Given the description of an element on the screen output the (x, y) to click on. 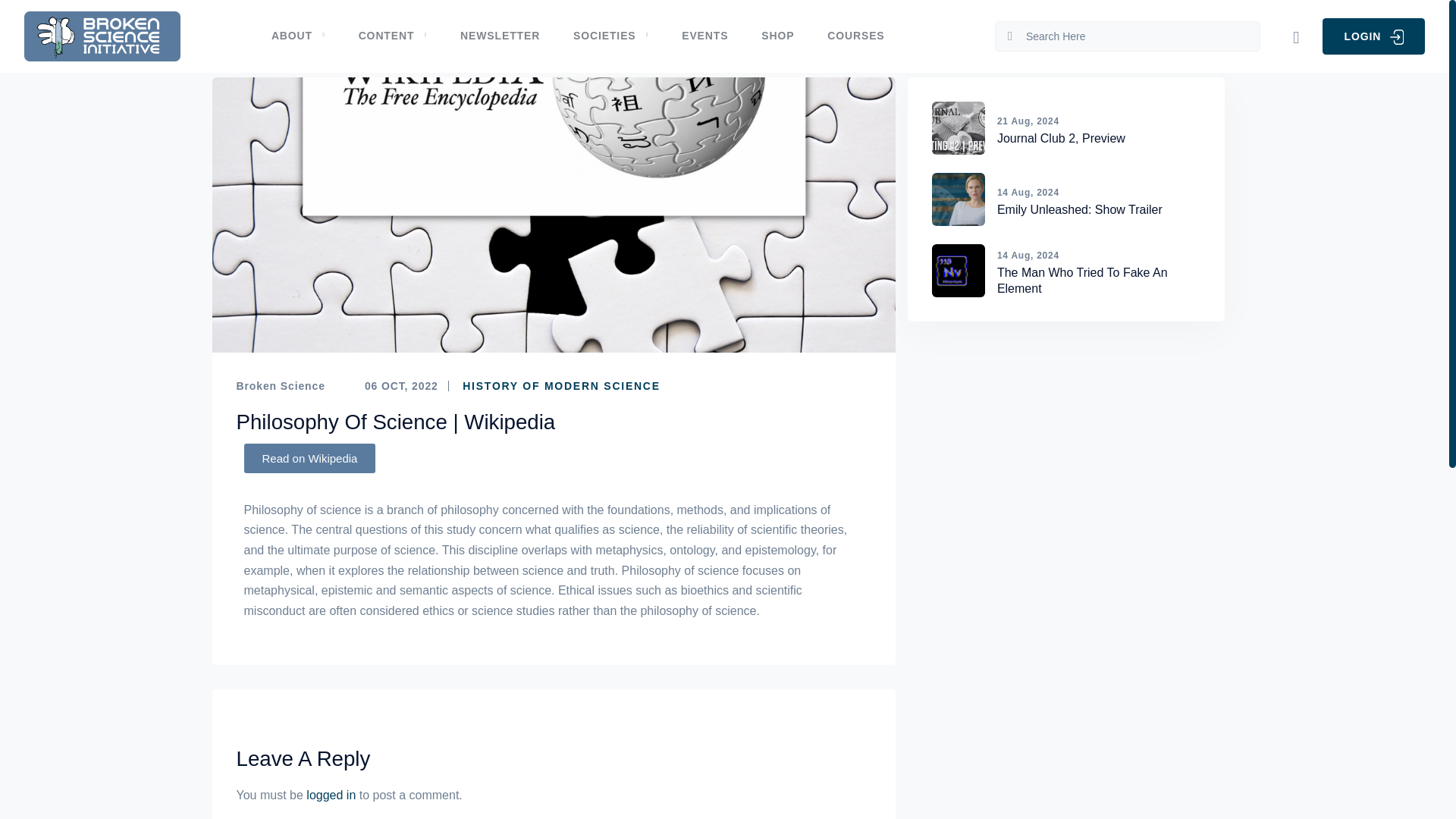
COURSES (855, 35)
CONTENT (393, 35)
LOGIN (1373, 36)
SOCIETIES (610, 35)
SHOP (777, 35)
Shopping Cart (1295, 37)
EVENTS (704, 35)
ABOUT (306, 35)
NEWSLETTER (500, 35)
